Given the description of an element on the screen output the (x, y) to click on. 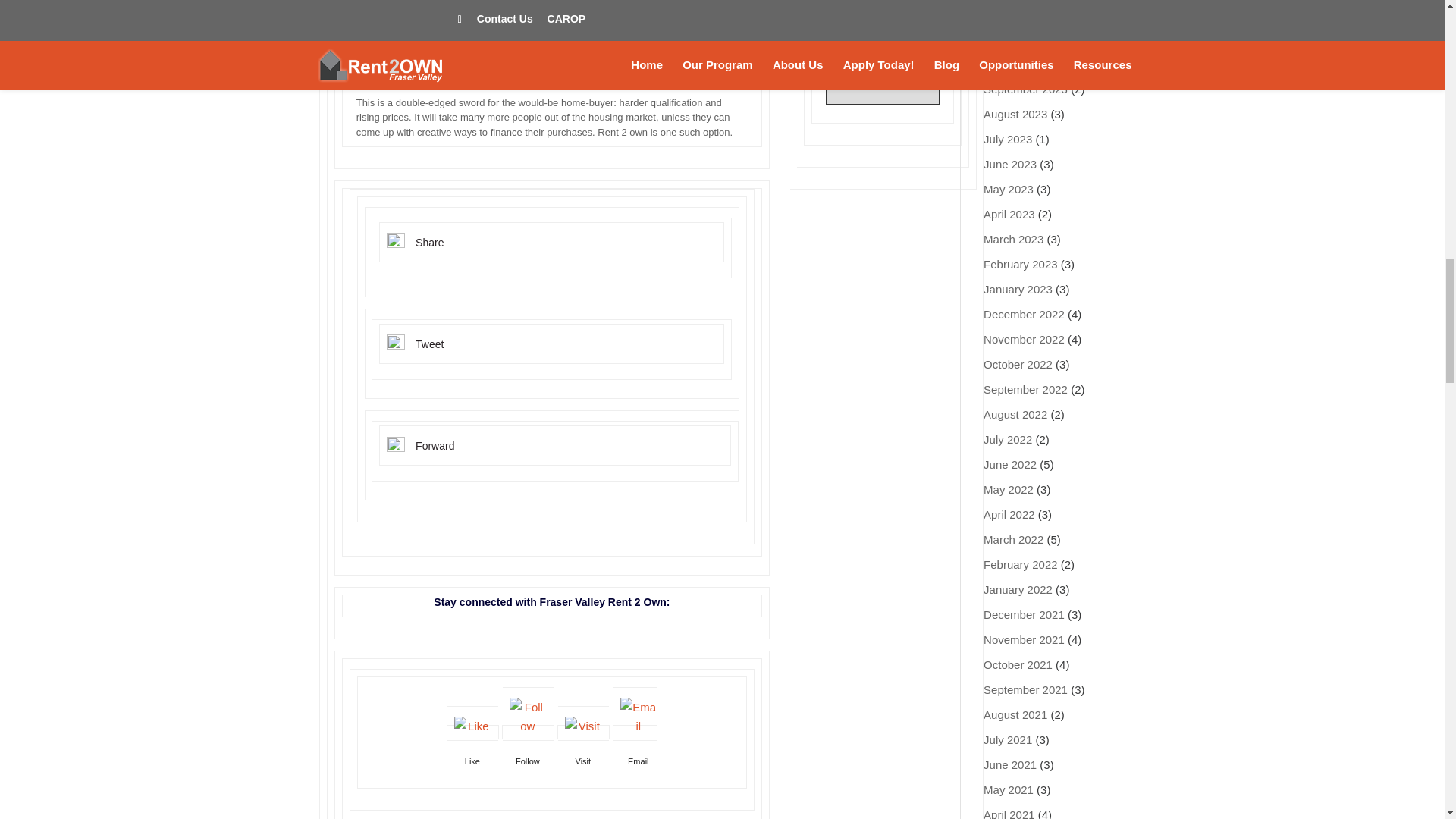
Visit (583, 760)
Email (638, 760)
Like (472, 760)
Follow (527, 760)
Forward (434, 445)
Share (429, 242)
Tweet (429, 344)
